Given the description of an element on the screen output the (x, y) to click on. 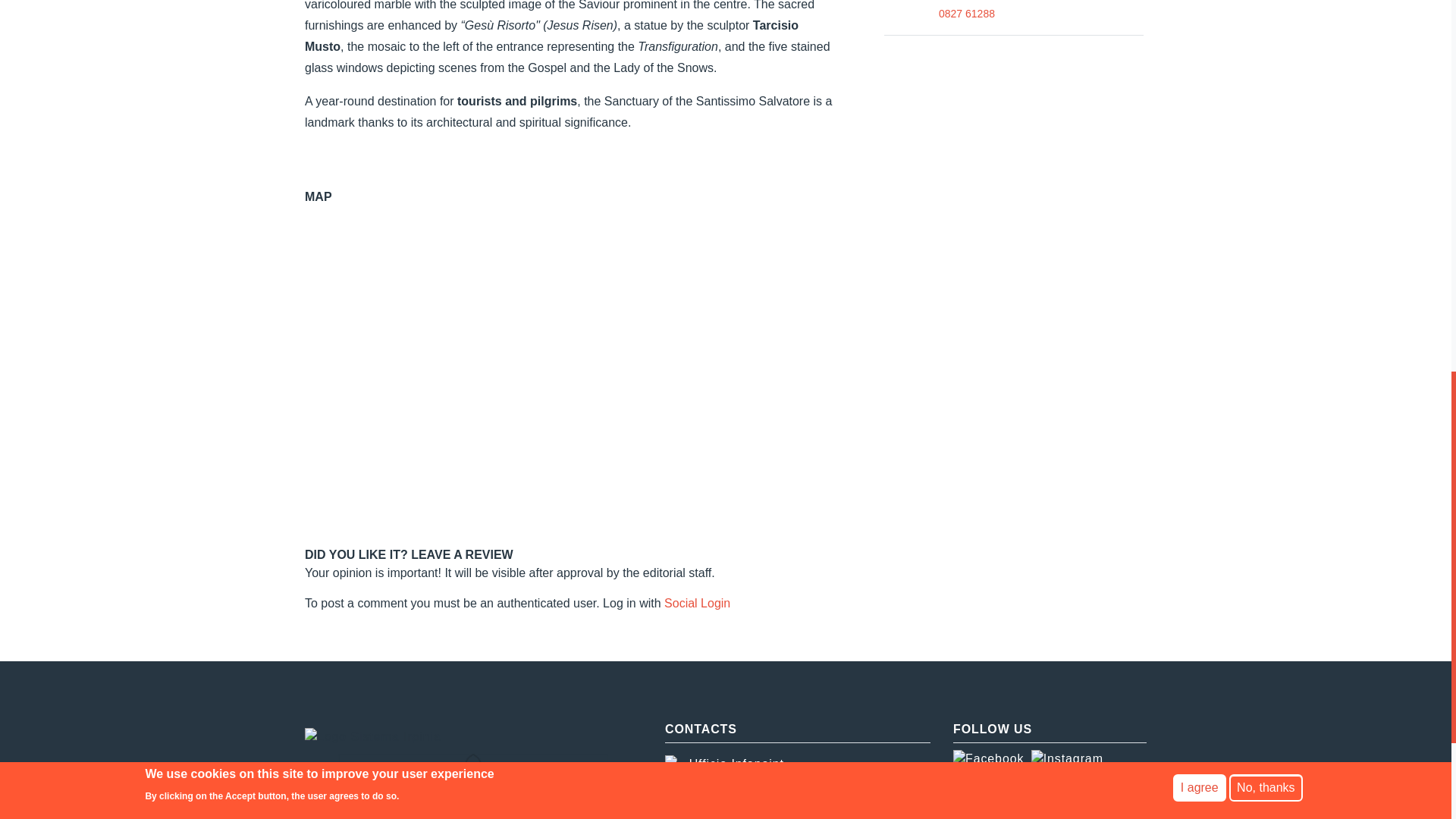
Go to Social Login (696, 603)
